Given the description of an element on the screen output the (x, y) to click on. 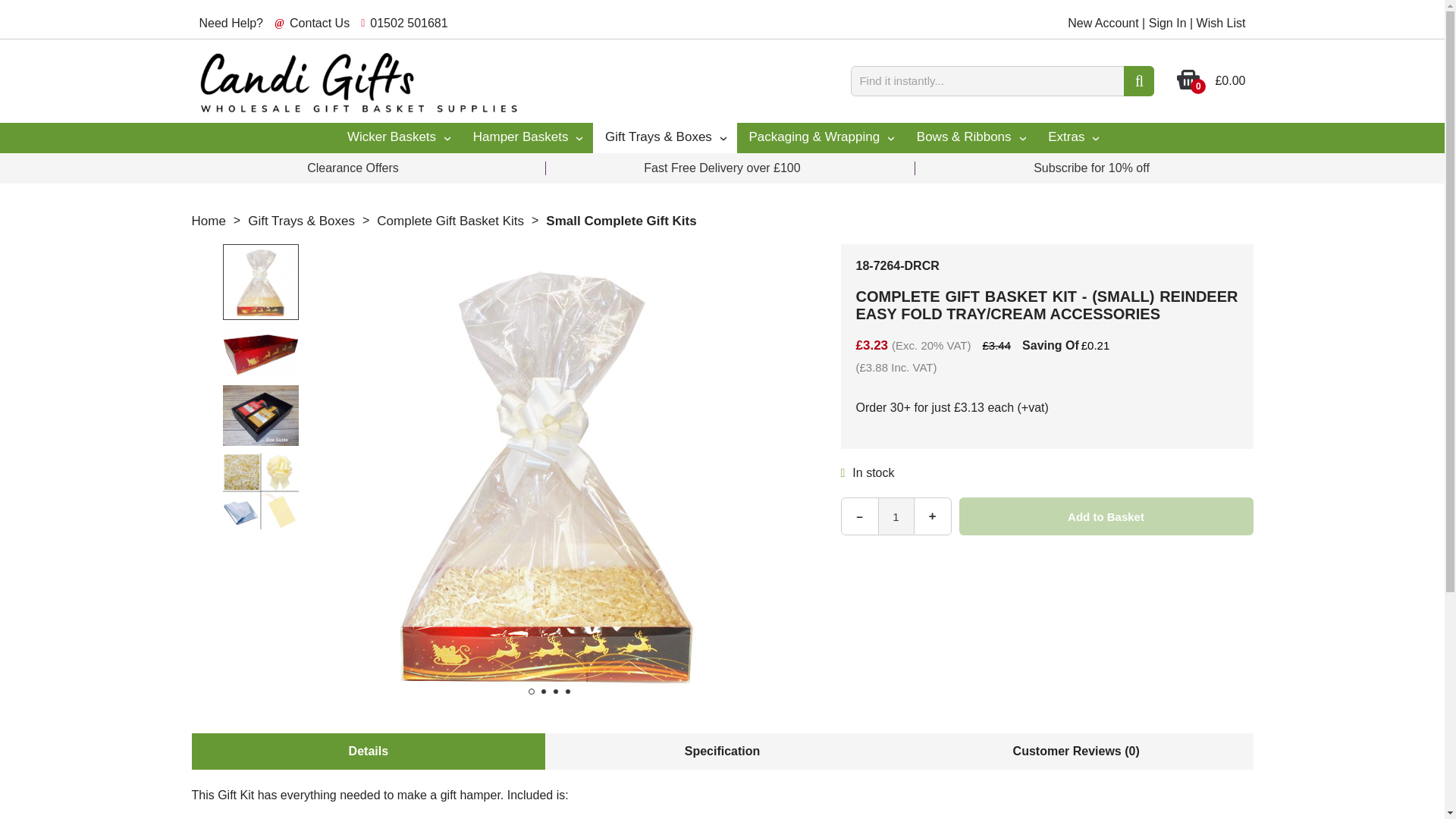
Wish List (1221, 23)
1 (895, 515)
Wicker Baskets (397, 137)
01502 501681 (407, 22)
Hamper Baskets (526, 137)
New Account (1102, 23)
0 (1187, 86)
Contact Us (319, 22)
Go (1139, 81)
Sign In (1167, 23)
